Given the description of an element on the screen output the (x, y) to click on. 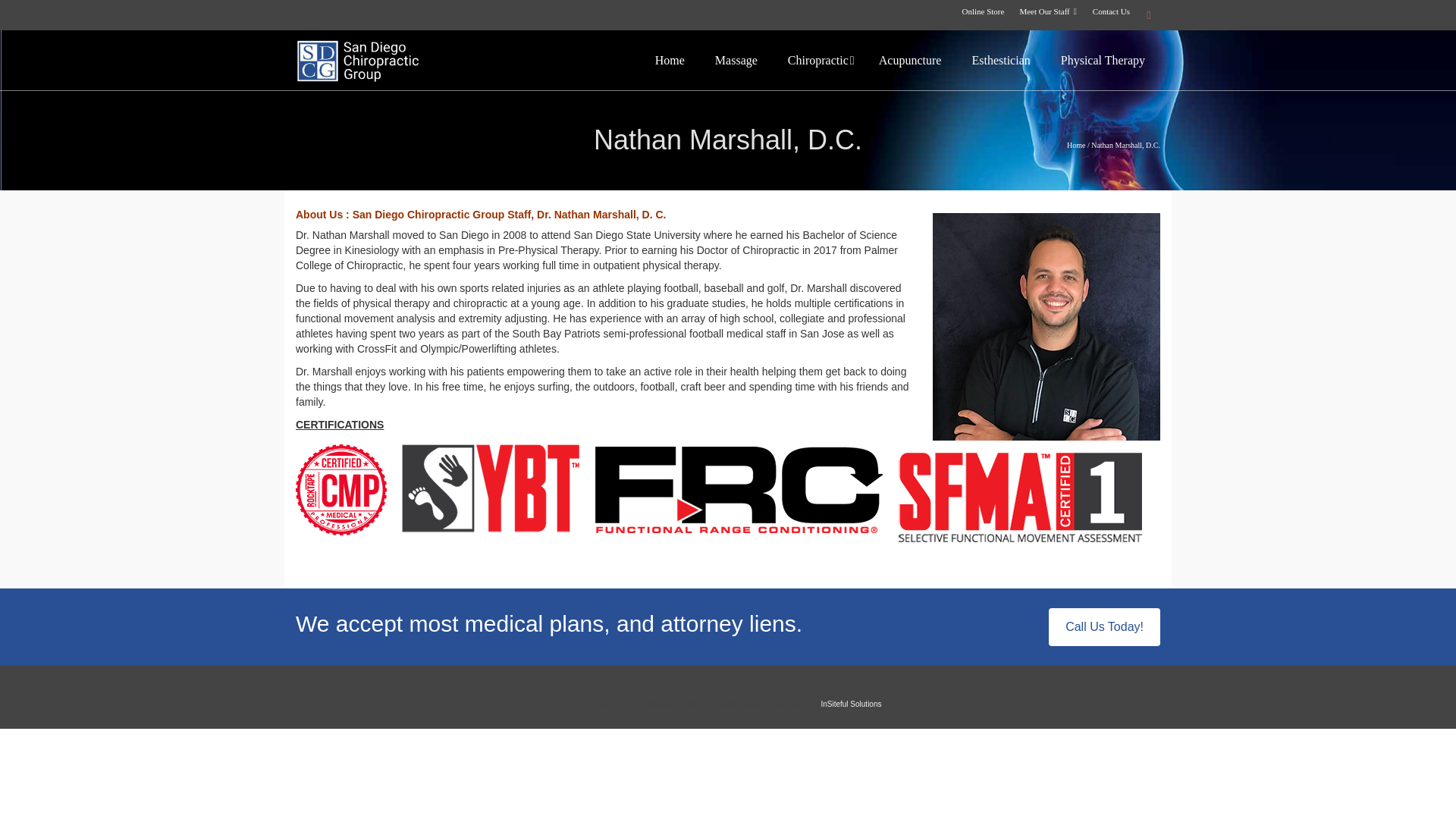
Massage (736, 60)
Esthestician (1000, 60)
Contact Us (1110, 11)
Acupuncture (909, 60)
Home (670, 60)
Chiropractic (821, 60)
Physical Therapy (1102, 60)
Online Store (982, 11)
Meet Our Staff (1047, 11)
